Given the description of an element on the screen output the (x, y) to click on. 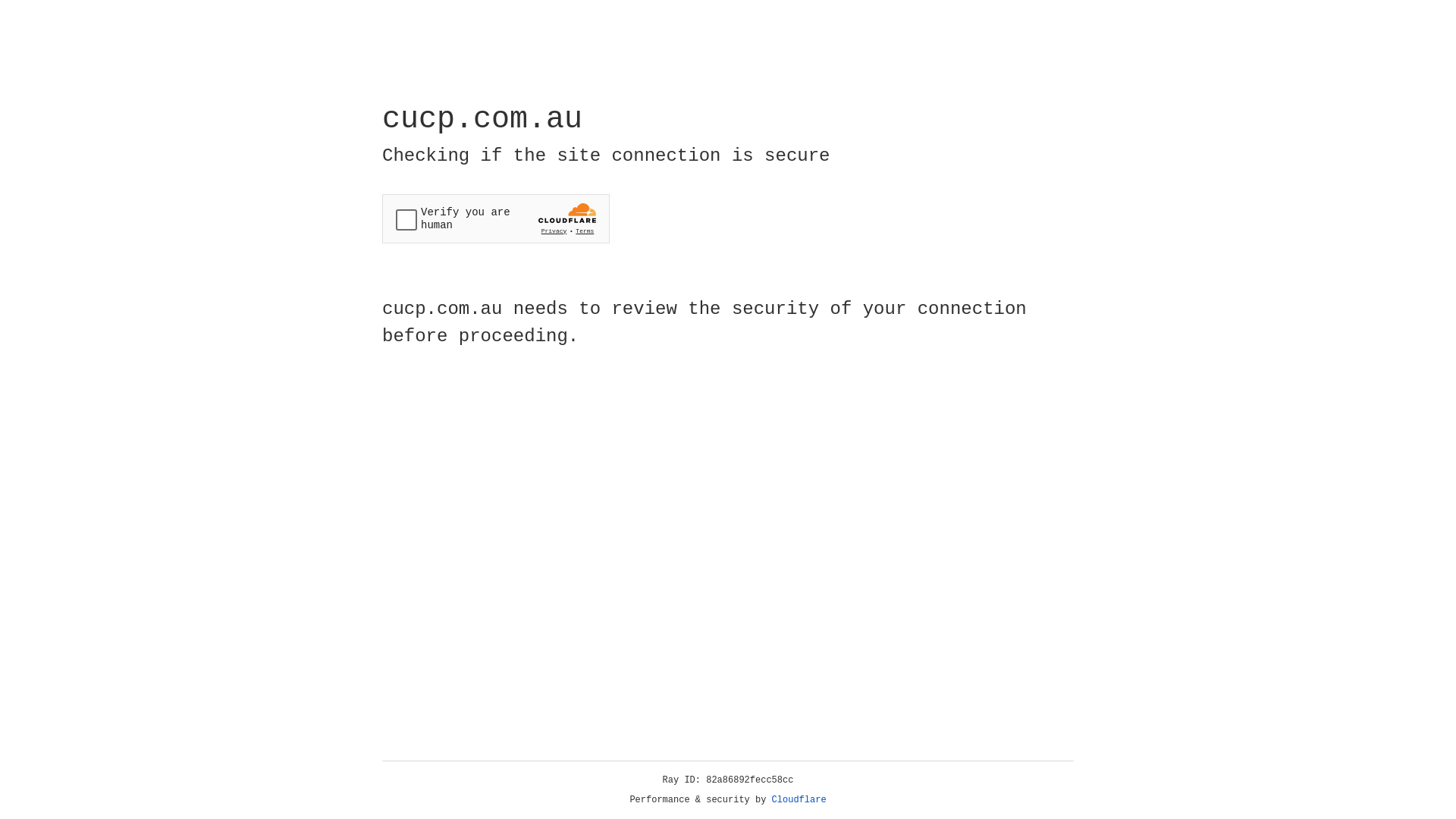
Widget containing a Cloudflare security challenge Element type: hover (495, 218)
Cloudflare Element type: text (798, 799)
